Given the description of an element on the screen output the (x, y) to click on. 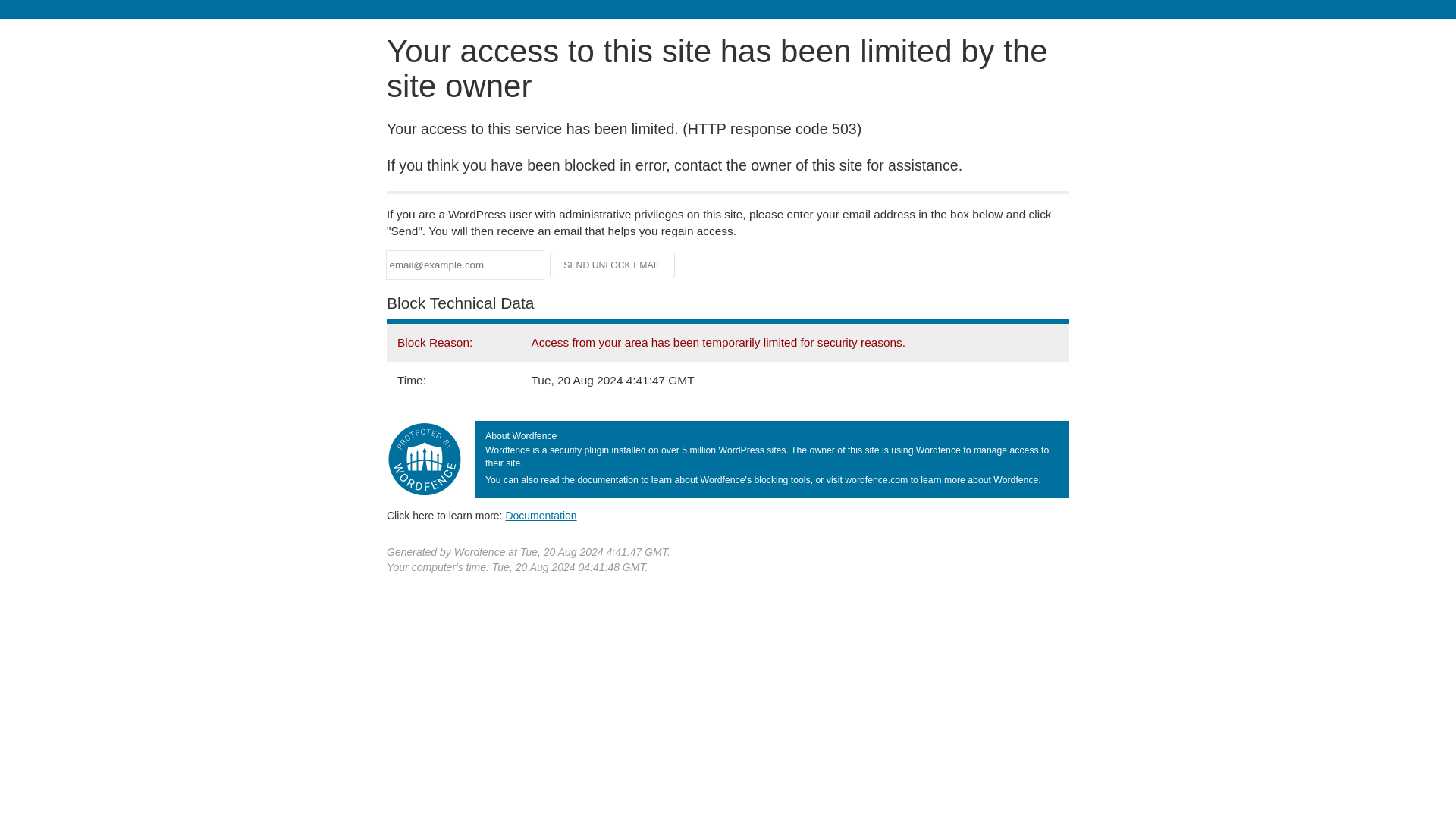
Send Unlock Email (612, 265)
Send Unlock Email (612, 265)
Documentation (540, 515)
